Given the description of an element on the screen output the (x, y) to click on. 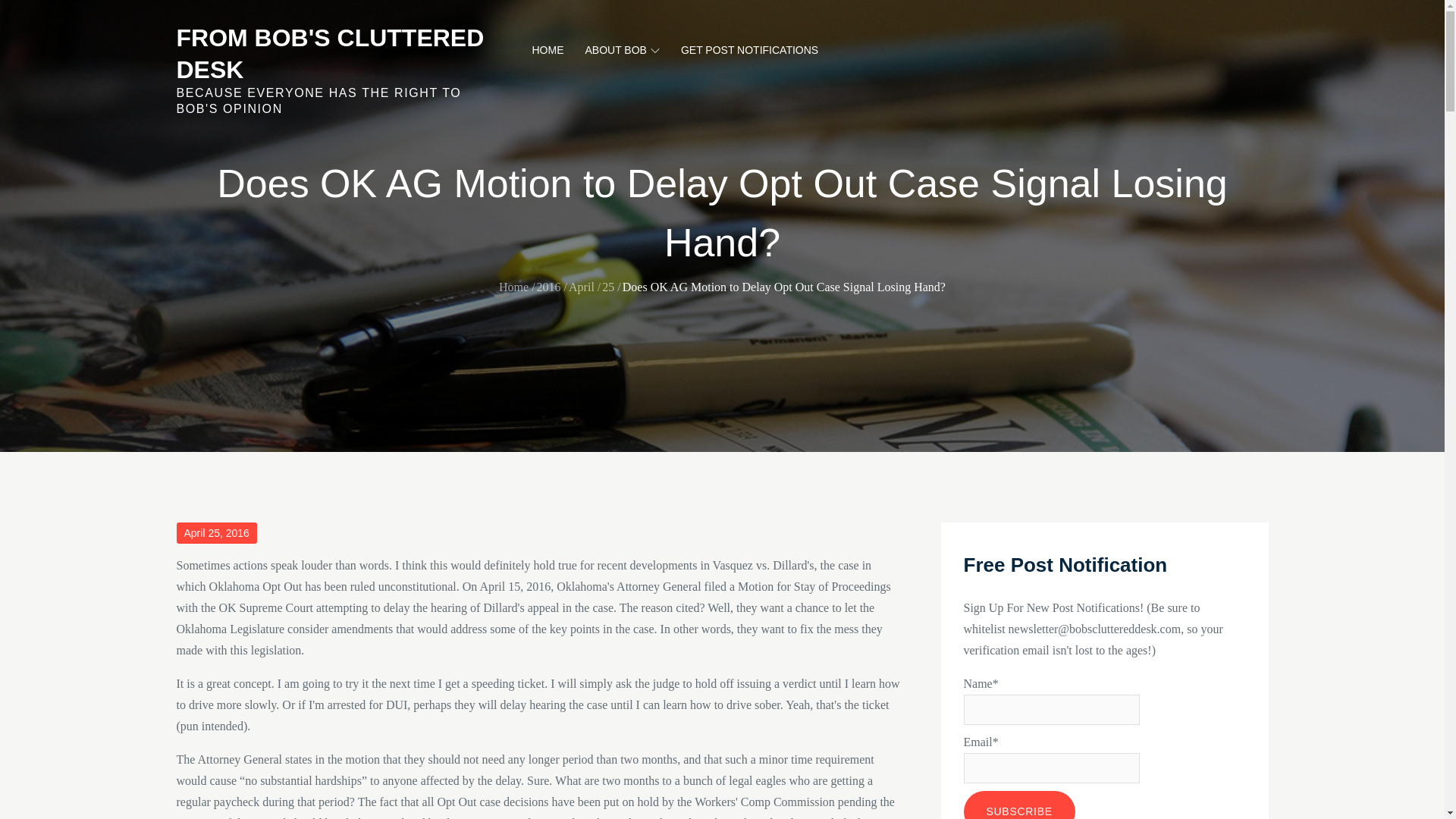
Subscribe (1018, 805)
25 (608, 286)
2016 (548, 286)
April (581, 286)
April 25, 2016 (216, 532)
HOME (547, 49)
Home (513, 286)
FROM BOB'S CLUTTERED DESK (329, 53)
Subscribe (1018, 805)
ABOUT BOB (622, 49)
GET POST NOTIFICATIONS (749, 49)
